Given the description of an element on the screen output the (x, y) to click on. 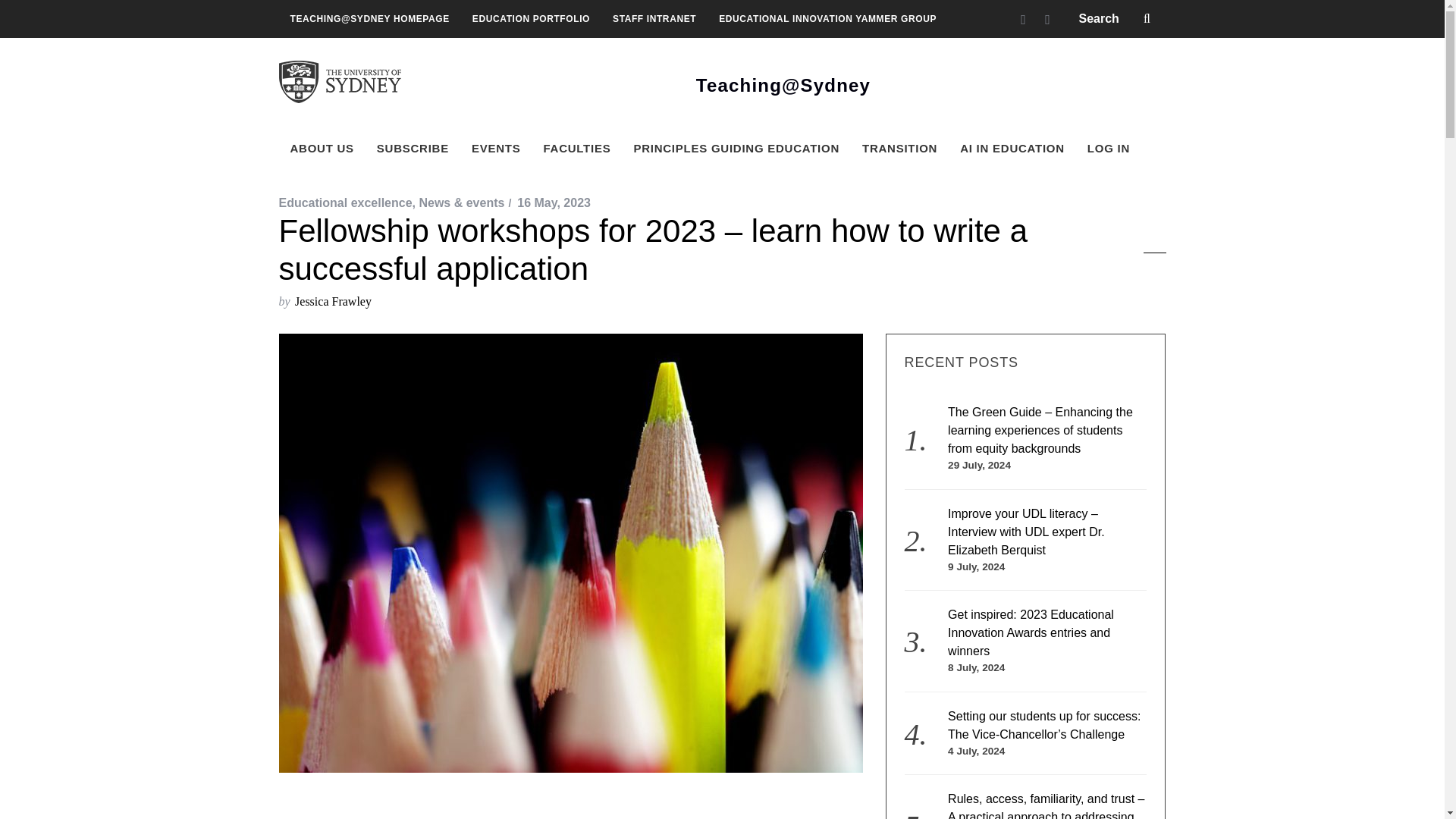
EDUCATION PORTFOLIO (531, 18)
EDUCATIONAL INNOVATION YAMMER GROUP (827, 18)
Posts by Jessica Frawley (333, 300)
STAFF INTRANET (654, 18)
Search (1116, 18)
ABOUT US (322, 148)
